Given the description of an element on the screen output the (x, y) to click on. 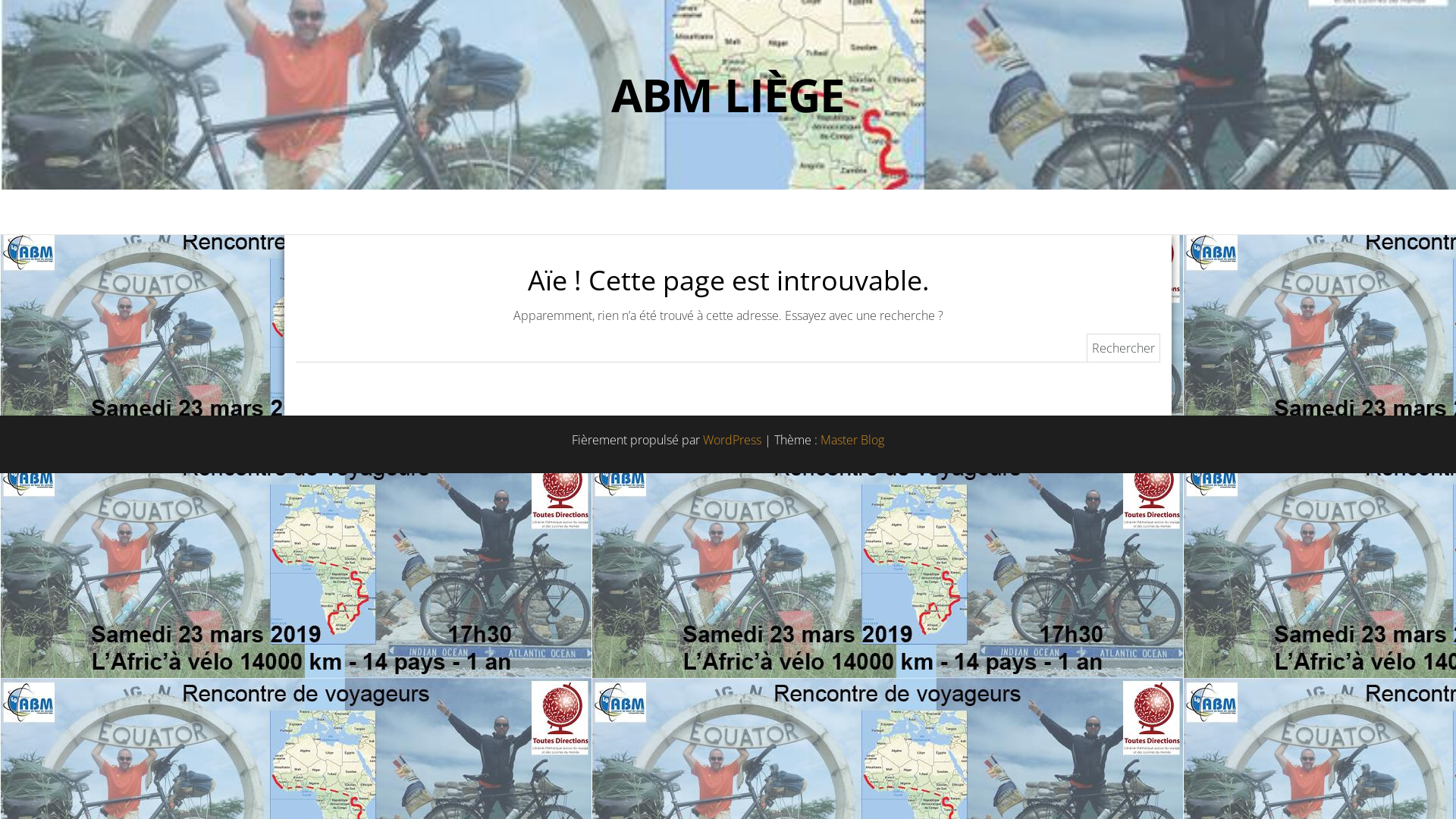
Master Blog Element type: text (852, 439)
WordPress Element type: text (731, 439)
Rechercher Element type: text (1123, 348)
